Given the description of an element on the screen output the (x, y) to click on. 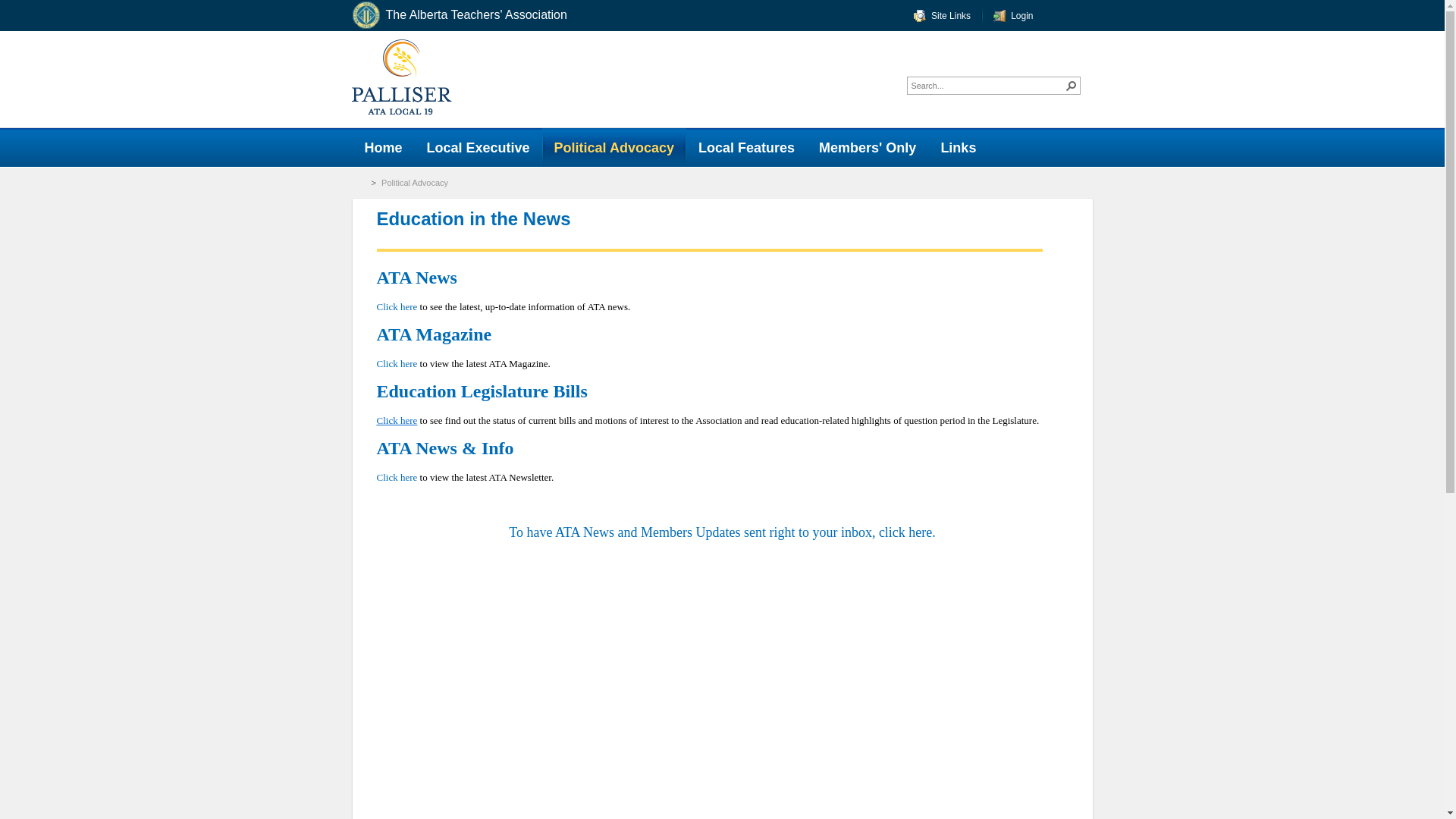
Political Advocacy (613, 147)
Site Links (942, 15)
Political Advocacy (613, 147)
Local Executive (477, 147)
Links (958, 147)
Political Advocacy (416, 182)
Login (1012, 15)
Login (1012, 15)
Home (382, 147)
Local Executive (477, 147)
